Given the description of an element on the screen output the (x, y) to click on. 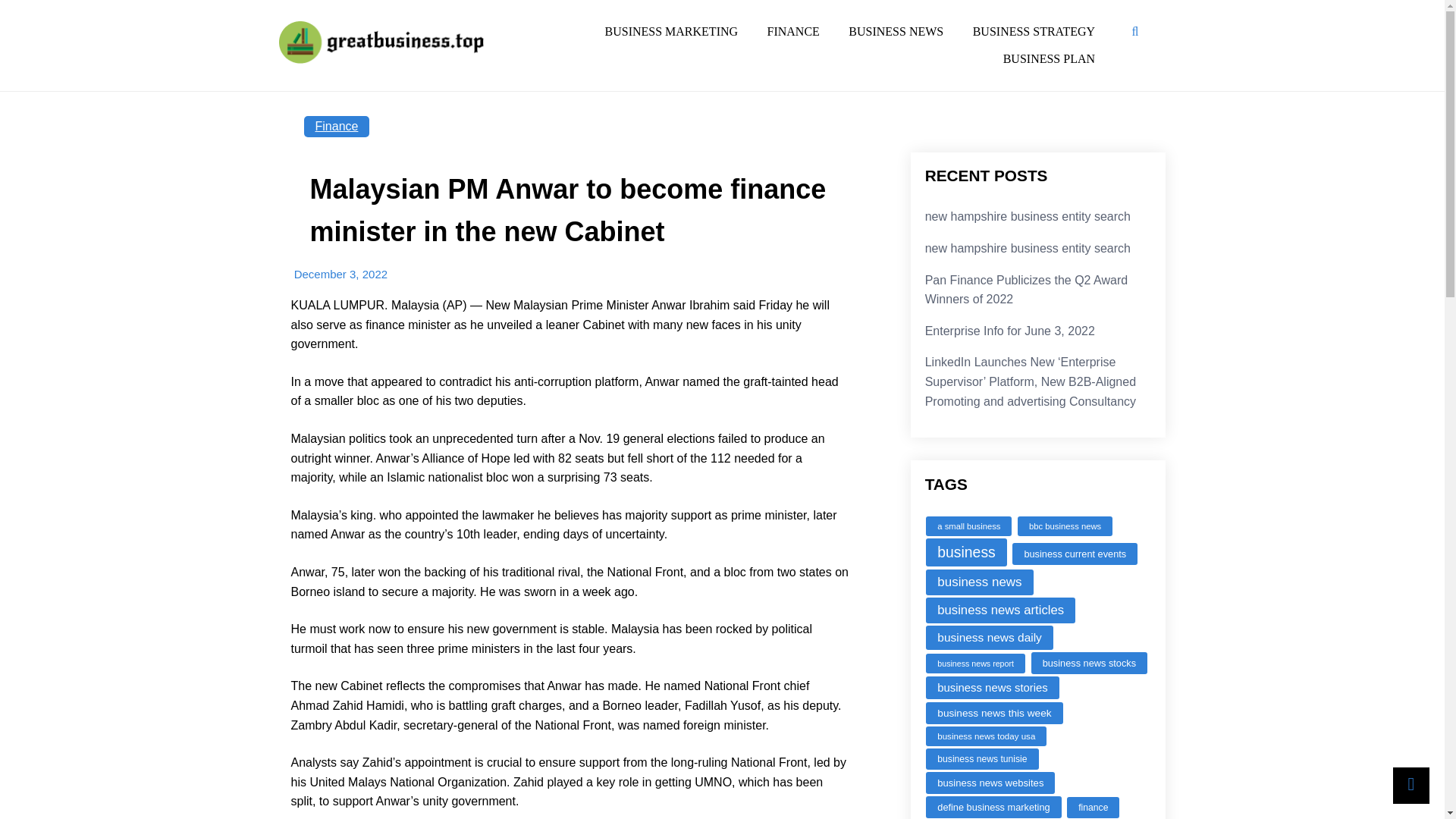
Enterprise Info for June 3, 2022 (1009, 330)
BUSINESS MARKETING (671, 31)
Finance (335, 126)
BUSINESS PLAN (1049, 59)
new hampshire business entity search (1027, 215)
BUSINESS STRATEGY (1033, 31)
BUSINESS NEWS (895, 31)
a small business (968, 526)
December 3, 2022 (340, 273)
new hampshire business entity search (1027, 247)
